Given the description of an element on the screen output the (x, y) to click on. 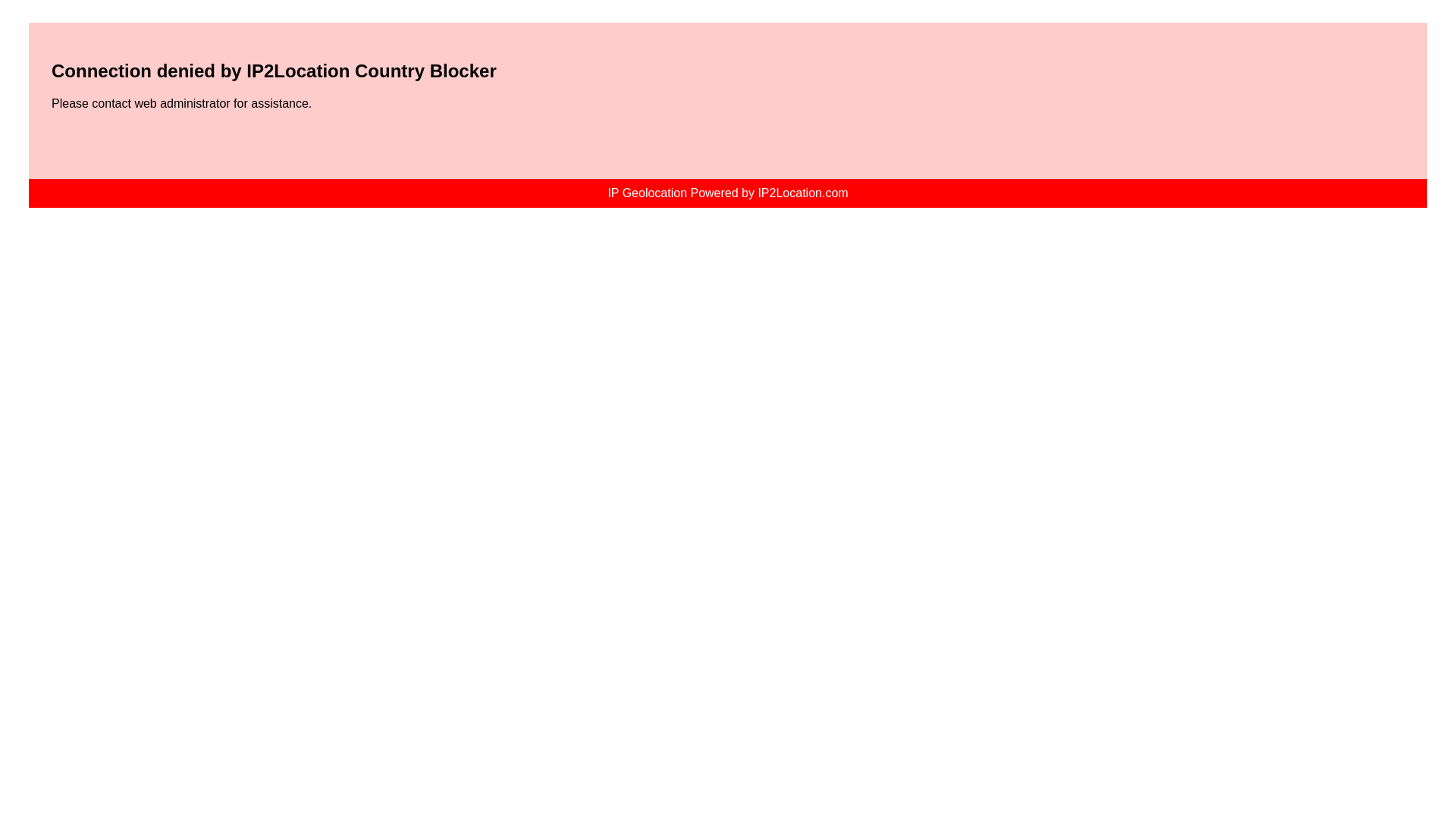
IP Geolocation Powered by IP2Location.com (727, 192)
